Given the description of an element on the screen output the (x, y) to click on. 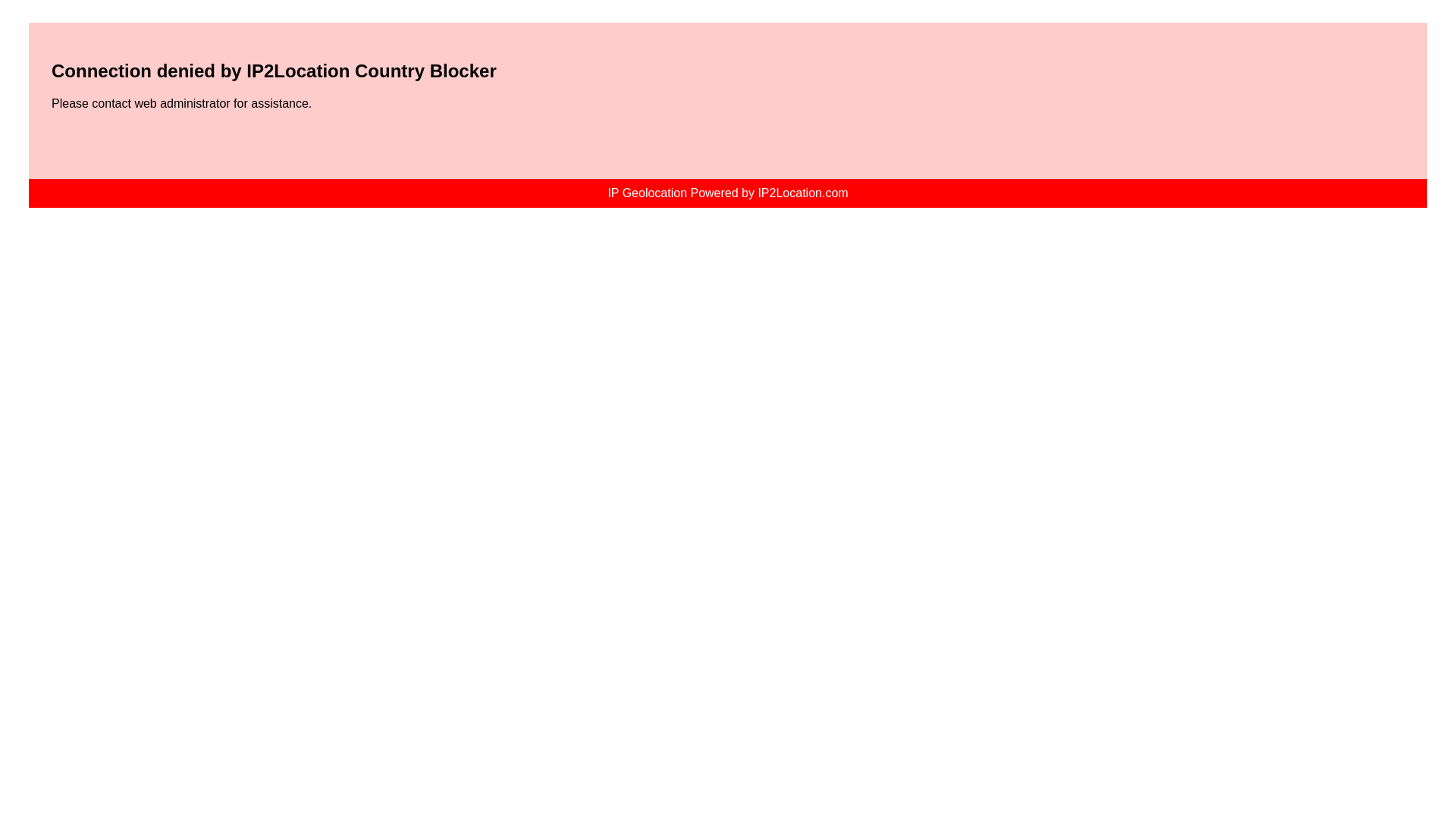
IP Geolocation Powered by IP2Location.com (727, 192)
